Given the description of an element on the screen output the (x, y) to click on. 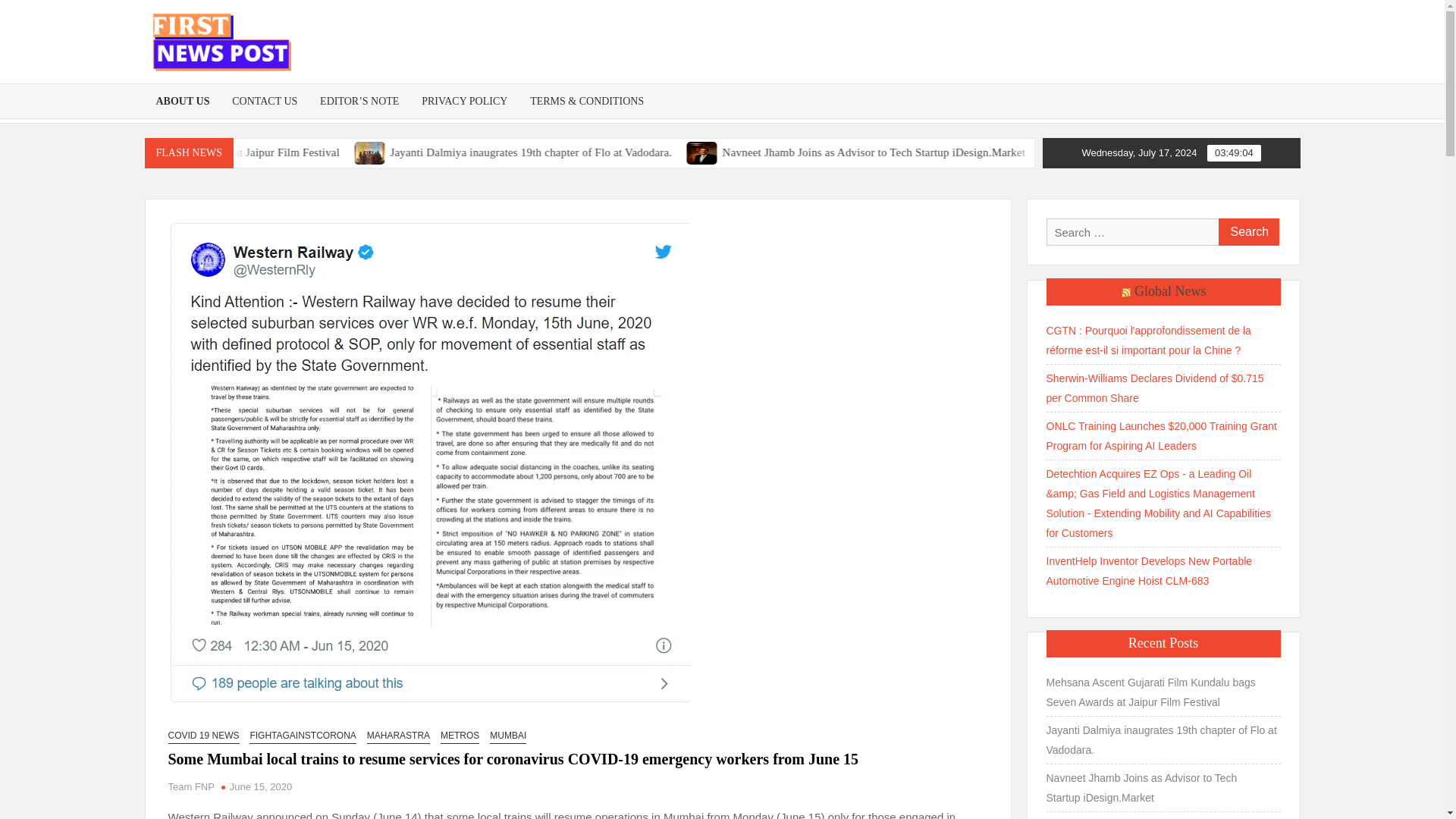
PRIVACY POLICY (464, 100)
Search (1247, 231)
Jayanti Dalmiya inaugrates 19th chapter of Flo at Vadodara. (708, 152)
CONTACT US (264, 100)
Jayanti Dalmiya inaugrates 19th chapter of Flo at Vadodara. (502, 151)
Jayanti Dalmiya inaugrates 19th chapter of Flo at Vadodara. (662, 152)
Search (1247, 231)
ABOUT US (182, 100)
